Given the description of an element on the screen output the (x, y) to click on. 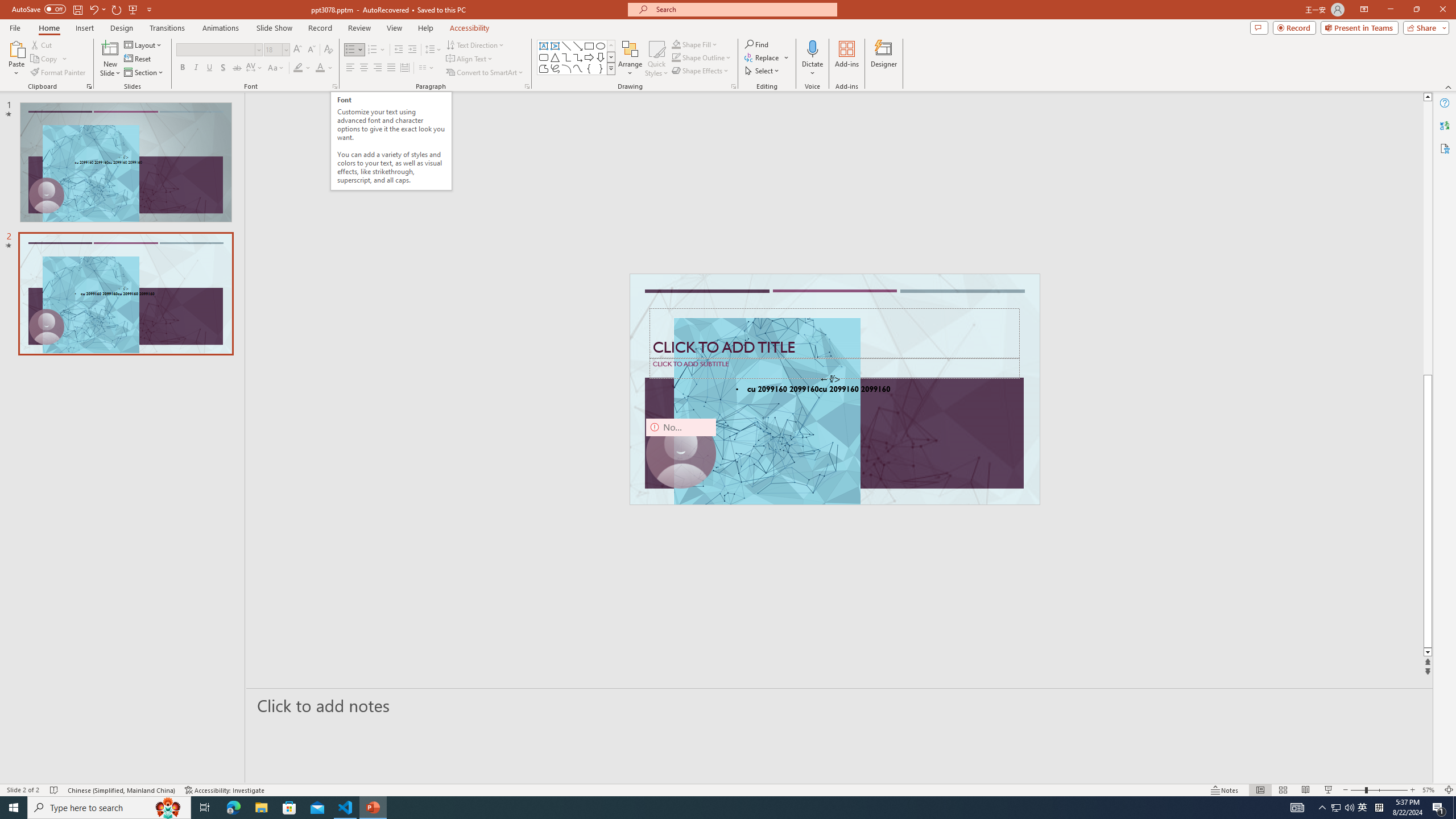
Reset (138, 58)
Columns (426, 67)
Minimize (1390, 9)
Decrease Font Size (310, 49)
Font Color Red (320, 67)
Shapes (611, 68)
Slide Sorter (1282, 790)
Section (144, 72)
Quick Styles (656, 58)
Numbering (376, 49)
View (395, 28)
Find... (756, 44)
Subtitle TextBox (834, 367)
TextBox 61 (833, 390)
